Given the description of an element on the screen output the (x, y) to click on. 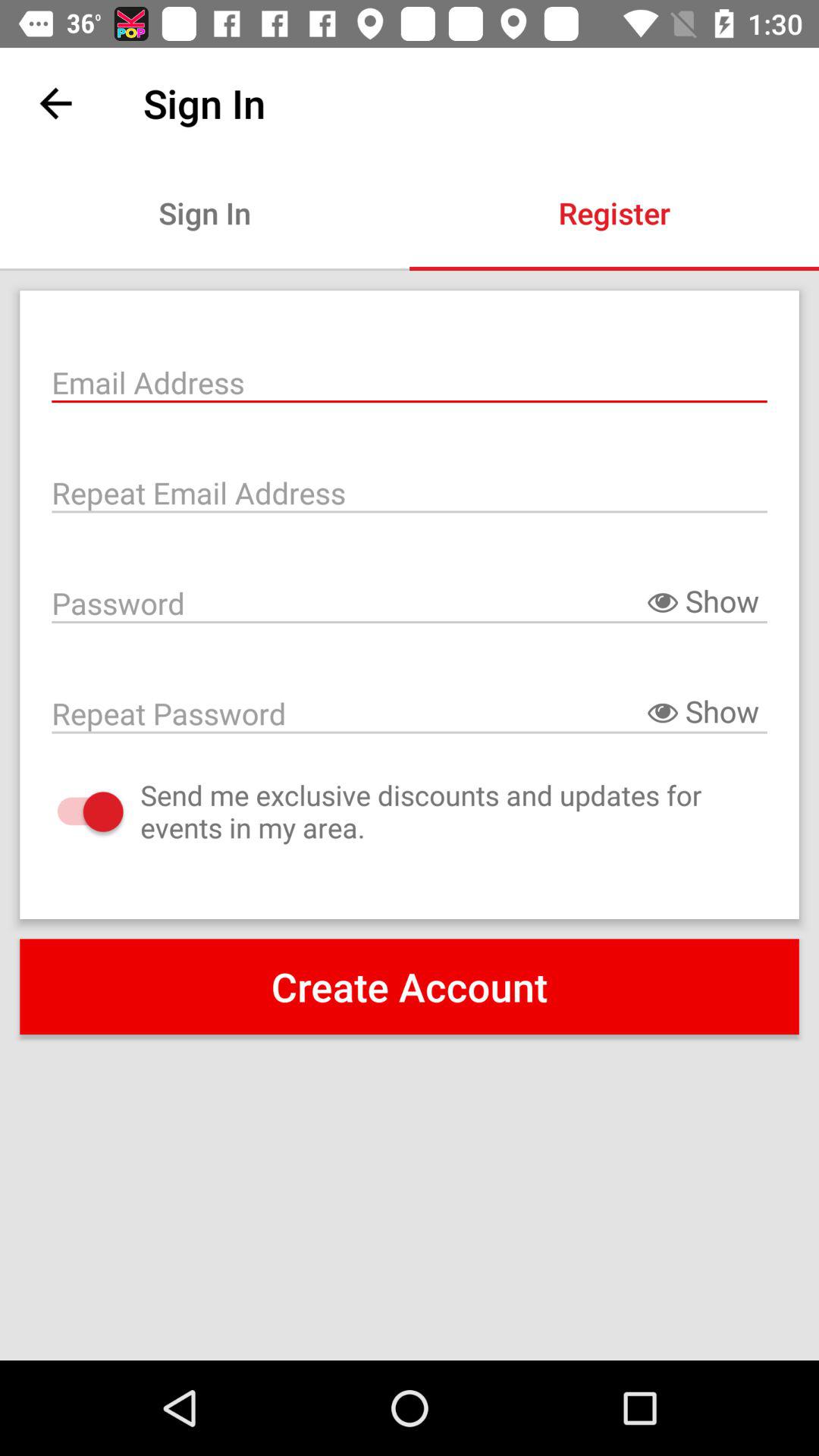
type your id name (409, 381)
